Given the description of an element on the screen output the (x, y) to click on. 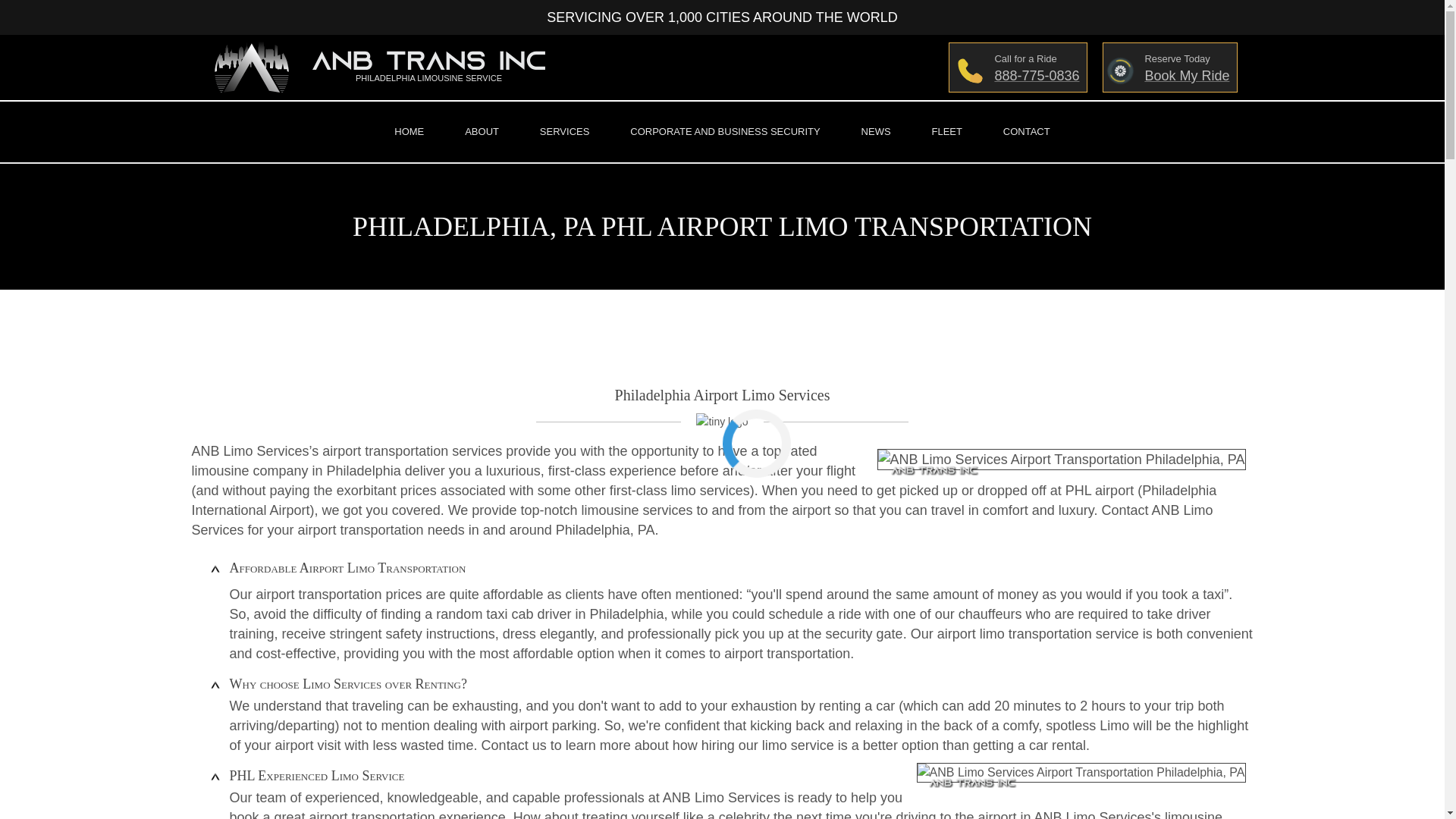
link to call (1018, 67)
link to home page (369, 67)
link to contact page (1026, 131)
SERVICES (564, 131)
link to services page (564, 131)
ABOUT (481, 131)
CORPORATE AND BUSINESS SECURITY (1169, 67)
link to about page (724, 131)
Business Security (481, 131)
